Given the description of an element on the screen output the (x, y) to click on. 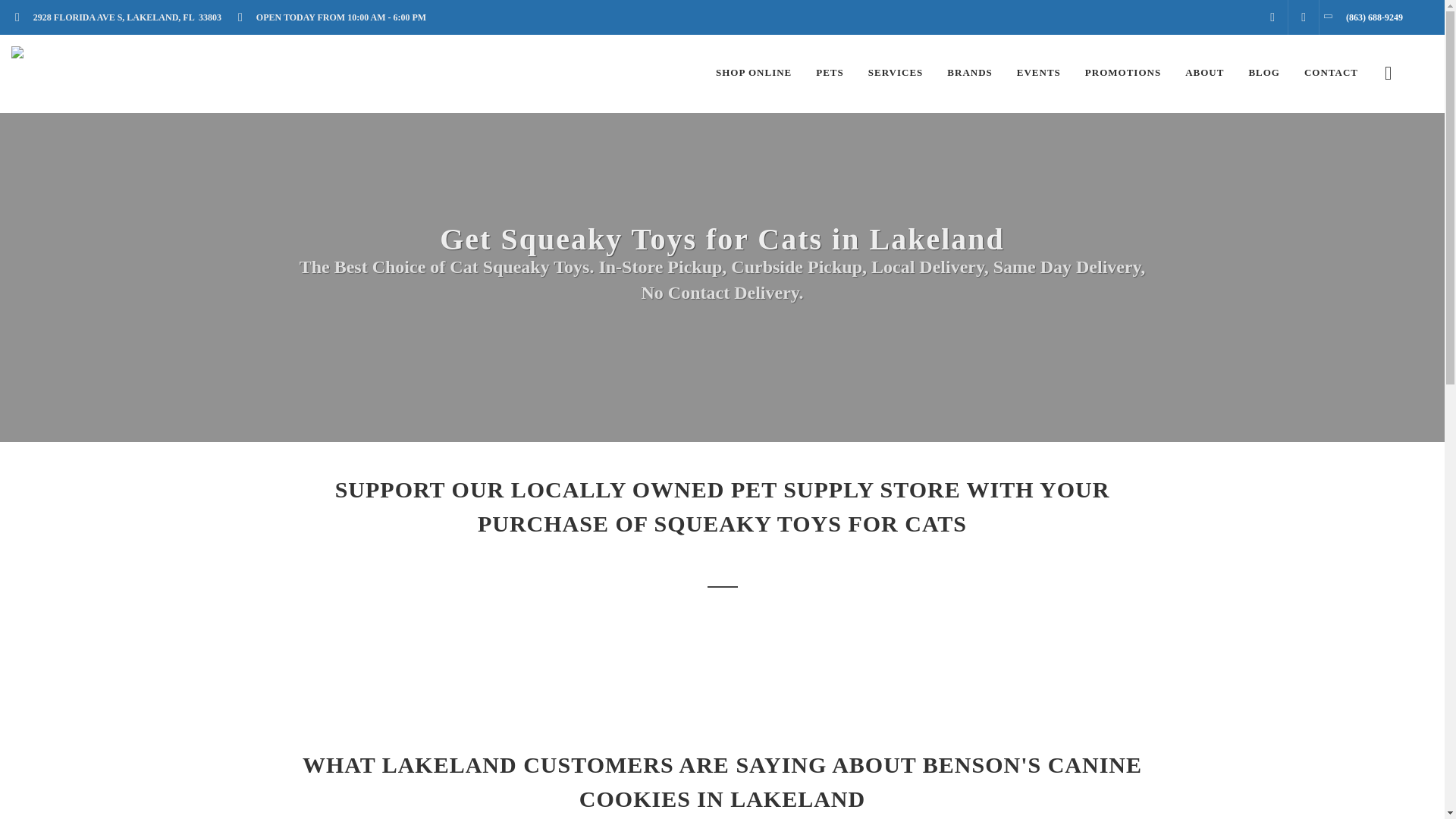
BRANDS (969, 72)
Benson's Canine Cookies Shop Online Near Lakeland (753, 72)
PROMOTIONS (1123, 72)
OPEN TODAY FROM 10:00 AM - 6:00 PM (336, 16)
SERVICES (895, 72)
Benson's Canine Cookies Services Near Lakeland (895, 72)
CONTACT (1331, 72)
2928 FLORIDA AVE S, LAKELAND, FL  33803 (122, 16)
Benson's Canine Cookies Brands Near Lakeland (969, 72)
SHOP ONLINE (753, 72)
Benson's Canine Cookies Promotions Near Lakeland (1123, 72)
Benson's Canine Cookies Contact Near Lakeland (1331, 72)
